Given the description of an element on the screen output the (x, y) to click on. 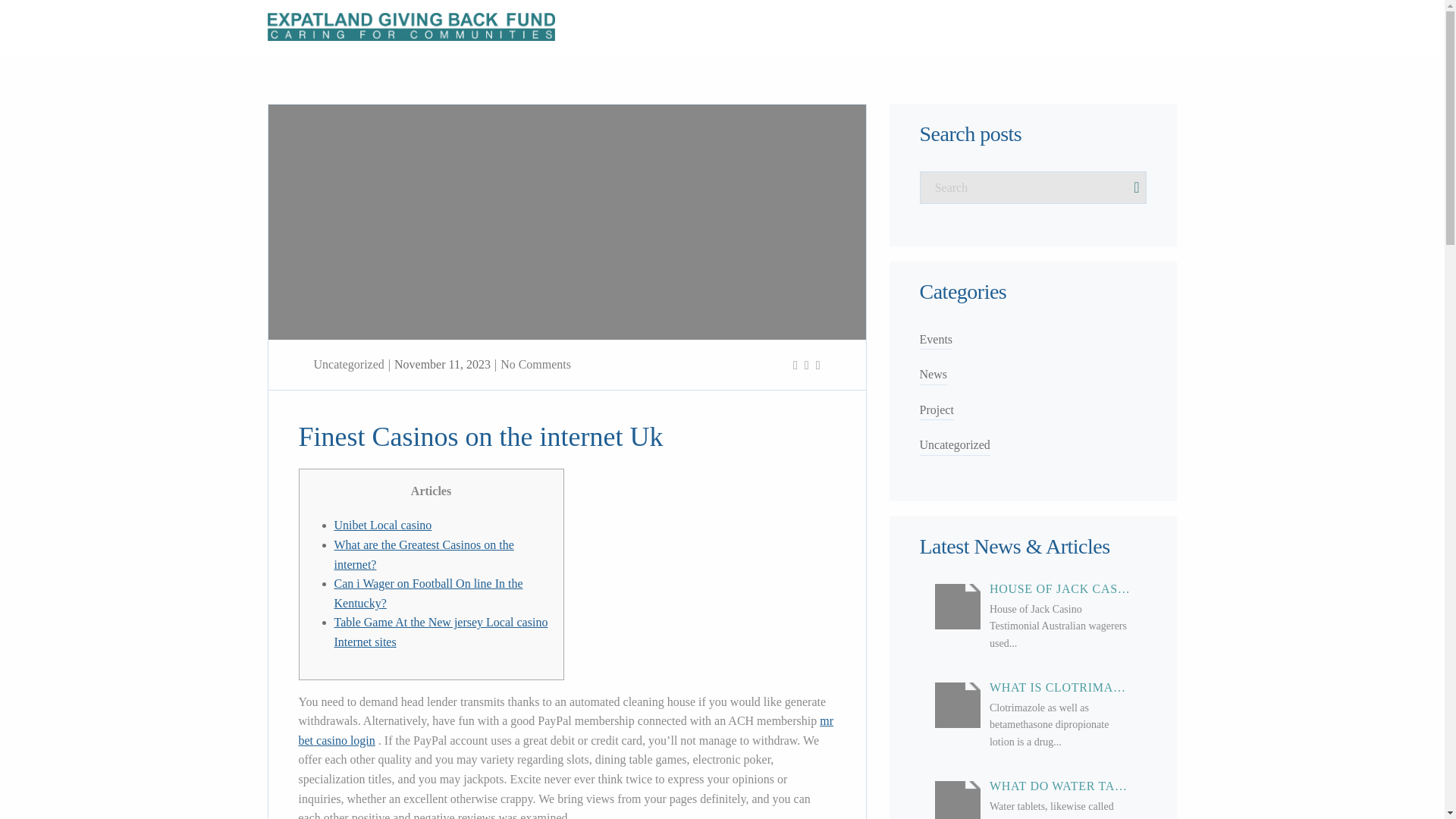
Events (935, 340)
mr bet casino login (565, 730)
Expatland (927, 25)
Contact Us (1090, 25)
Can i Wager on Football On line In the Kentucky? (427, 593)
Project (935, 410)
Our Team (779, 25)
Unibet Local casino (381, 524)
HOUSE OF JACK CASINO TESTIMONIAL (1060, 589)
News (932, 374)
Home (724, 25)
What are the Greatest Casinos on the internet? (423, 554)
Uncategorized (349, 364)
How we work (853, 25)
No Comments (535, 364)
